Given the description of an element on the screen output the (x, y) to click on. 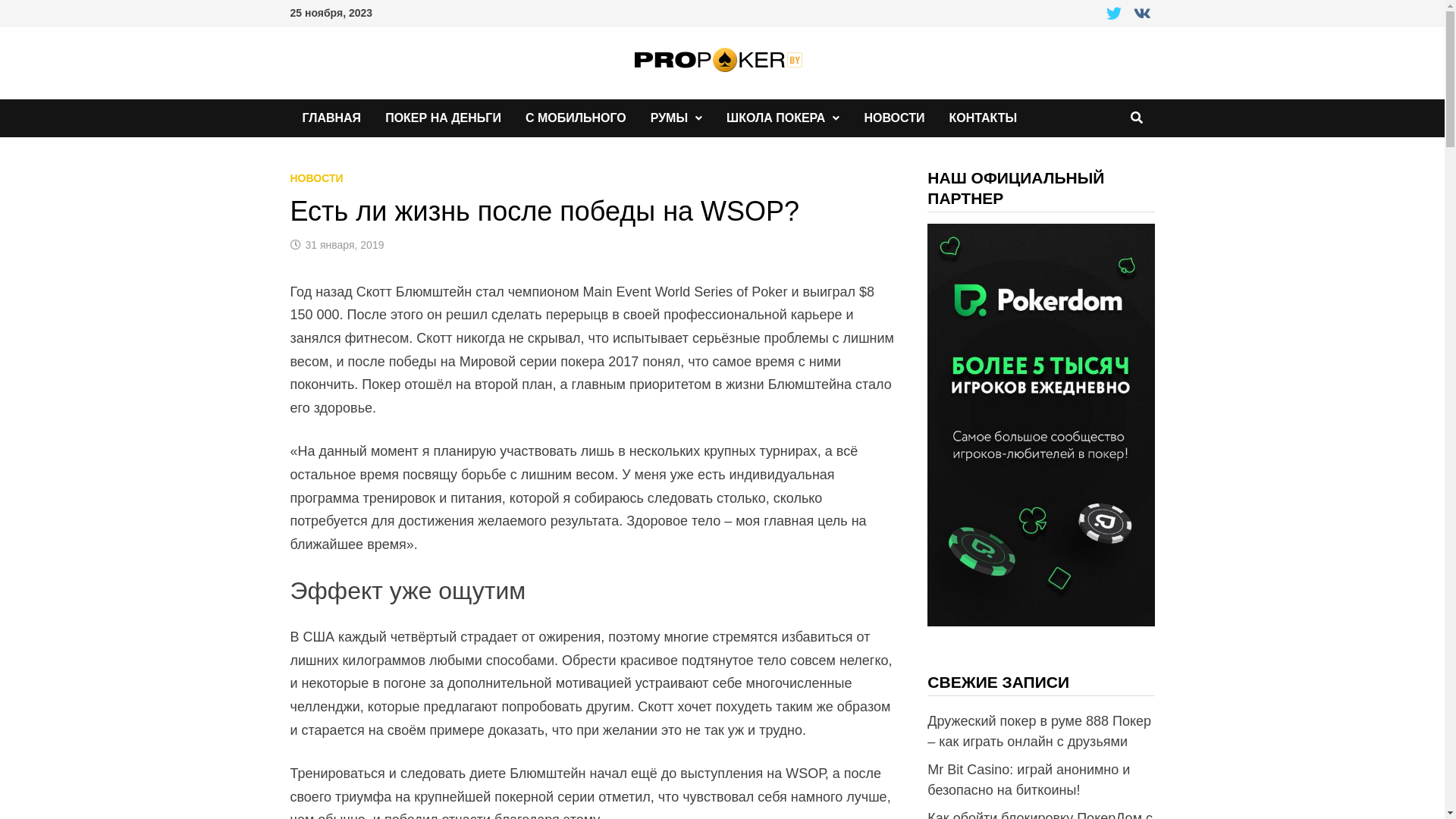
Twitter Element type: hover (1115, 13)
